Given the description of an element on the screen output the (x, y) to click on. 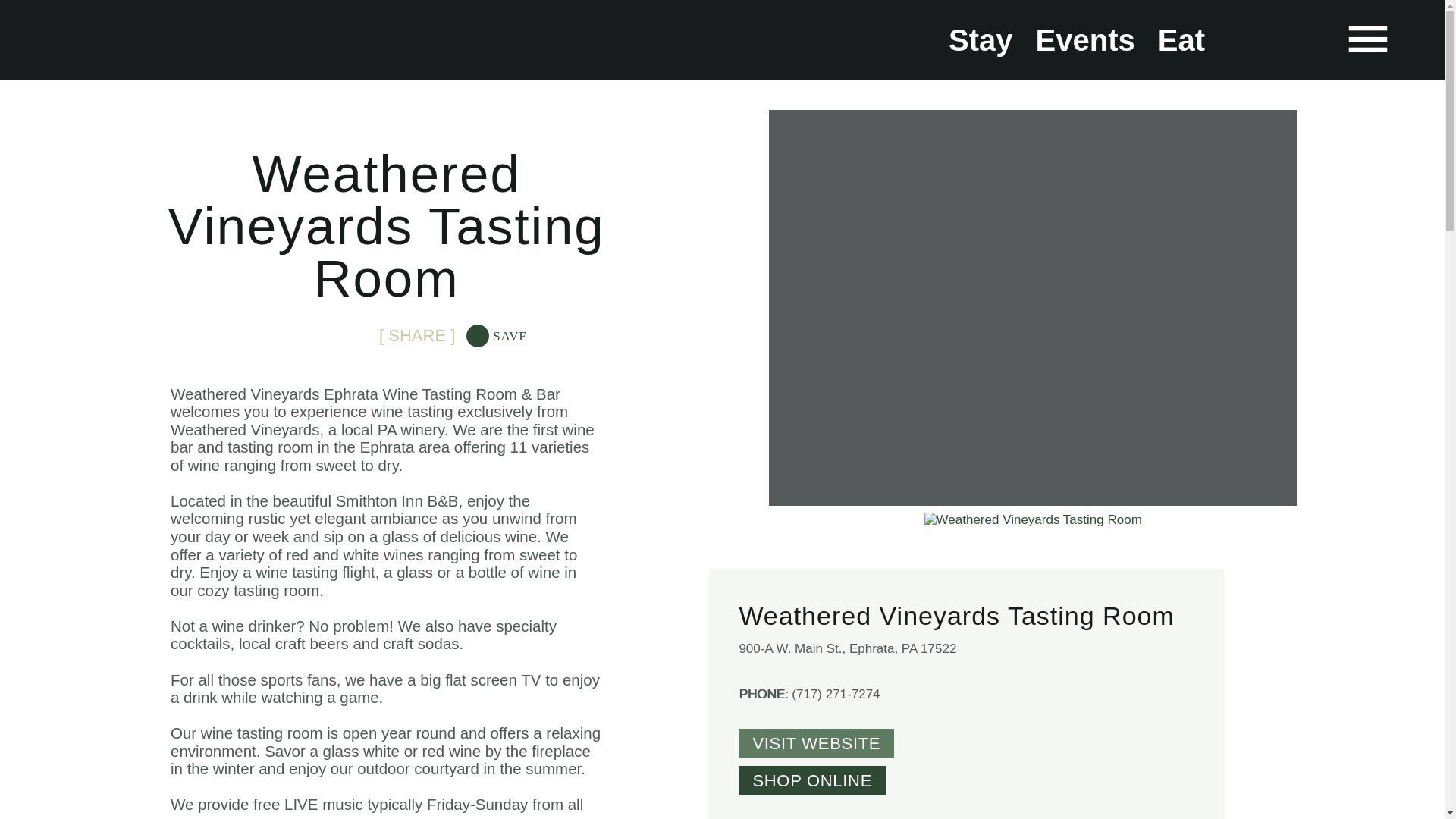
Share on Facebook (263, 335)
Events (1085, 39)
SHOP ONLINE (811, 780)
Share on Twitter (304, 335)
Stay (981, 39)
VISIT WEBSITE (815, 742)
SAVE (496, 335)
Email this page (347, 335)
